Given the description of an element on the screen output the (x, y) to click on. 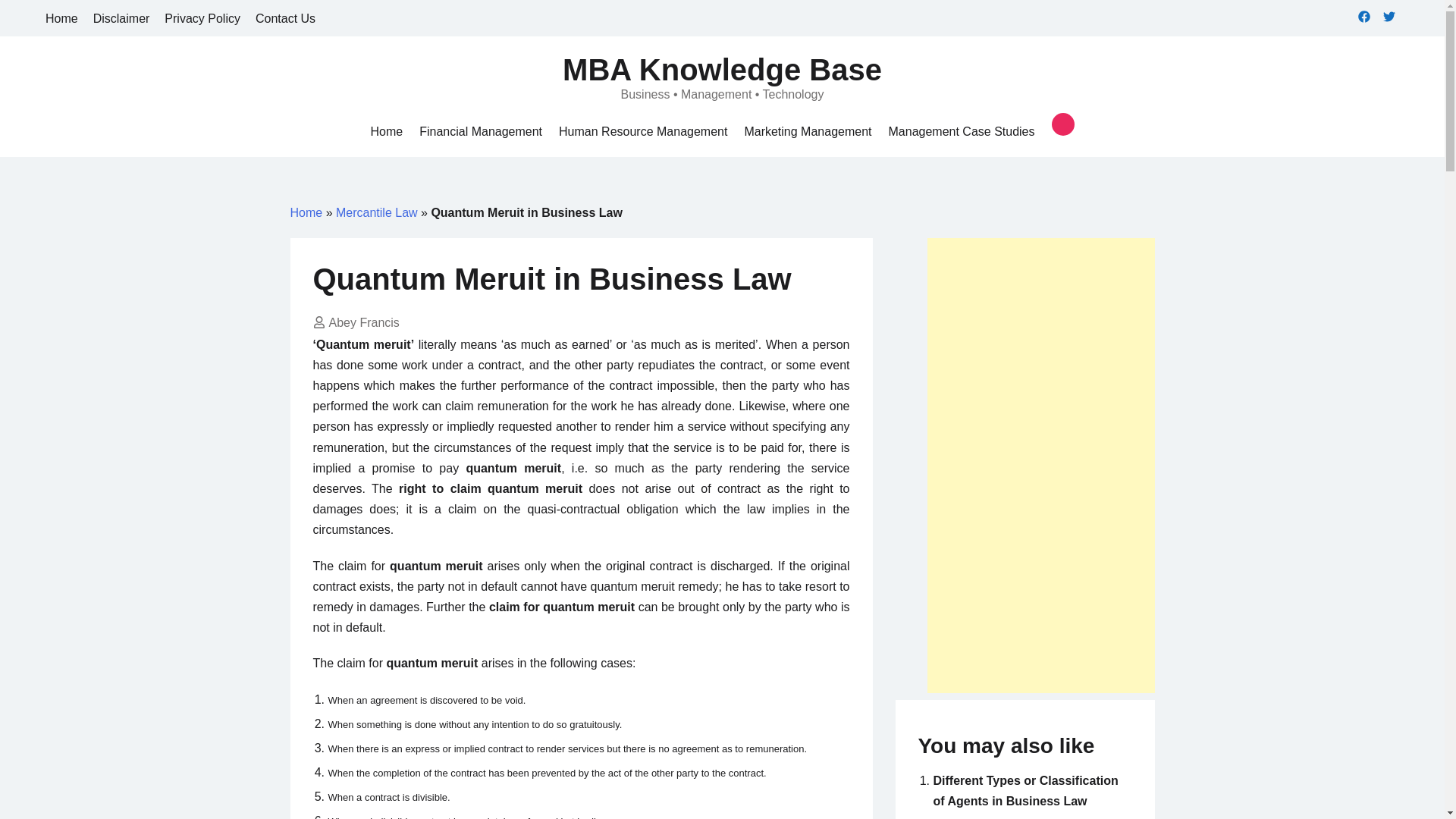
Home (386, 131)
MBA Knowledge Base (722, 69)
Home (305, 212)
Contact Us (285, 18)
Disclaimer (121, 18)
Home (386, 131)
Management Case Studies (961, 131)
Financial Management (480, 131)
Search (39, 16)
Privacy Policy (202, 18)
